Given the description of an element on the screen output the (x, y) to click on. 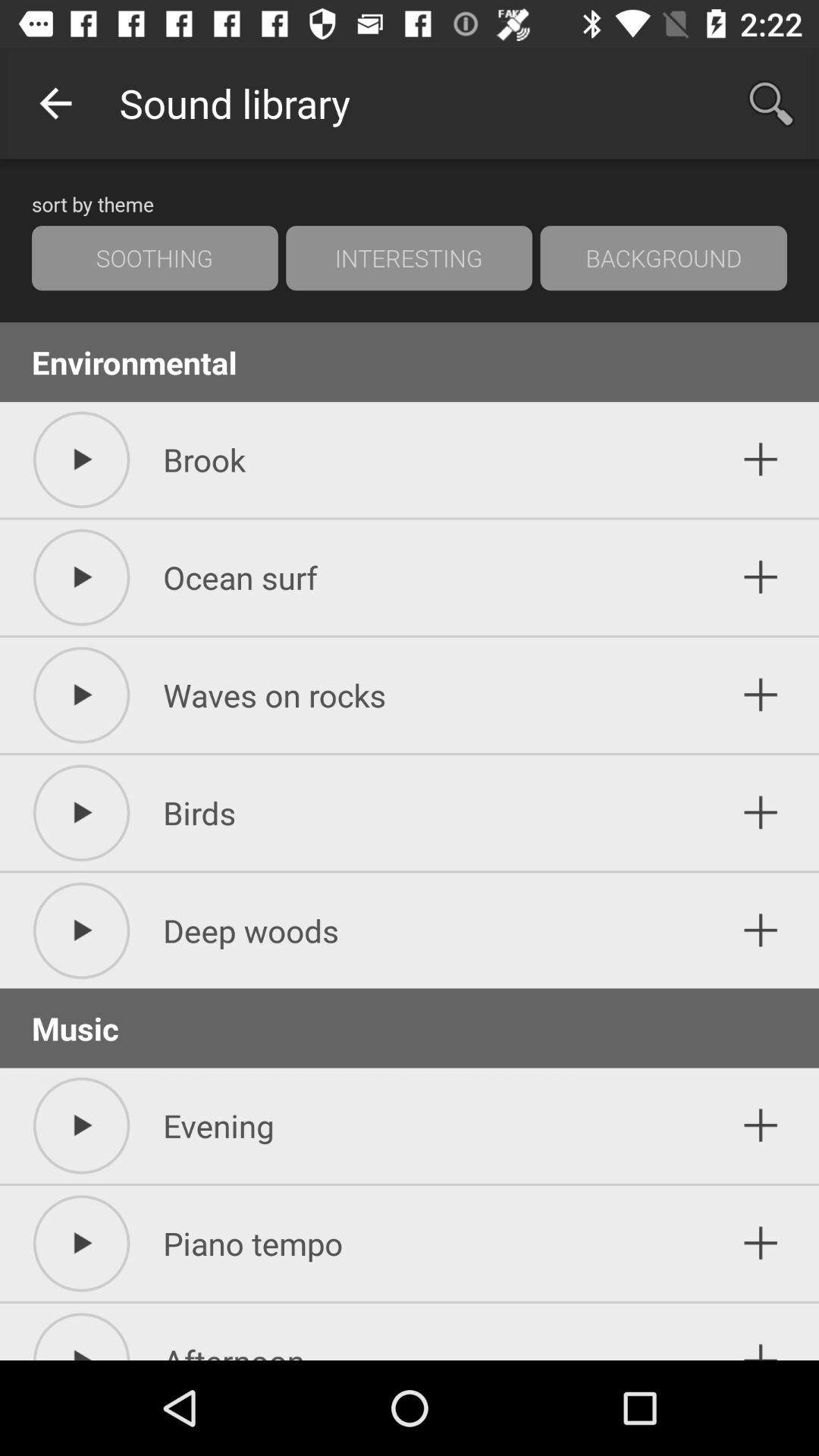
add music (761, 930)
